Given the description of an element on the screen output the (x, y) to click on. 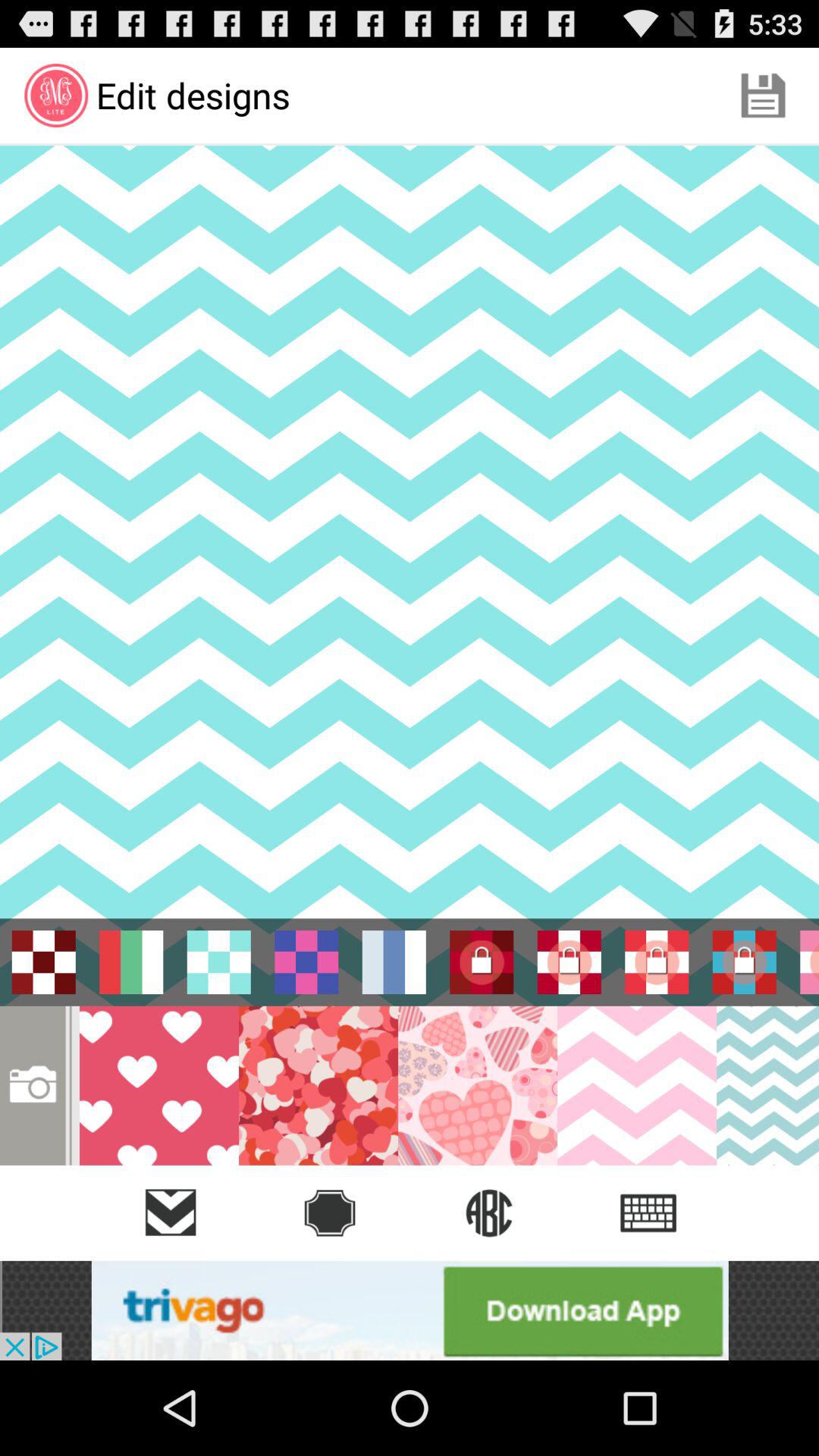
go to advertisement page (409, 1310)
